Given the description of an element on the screen output the (x, y) to click on. 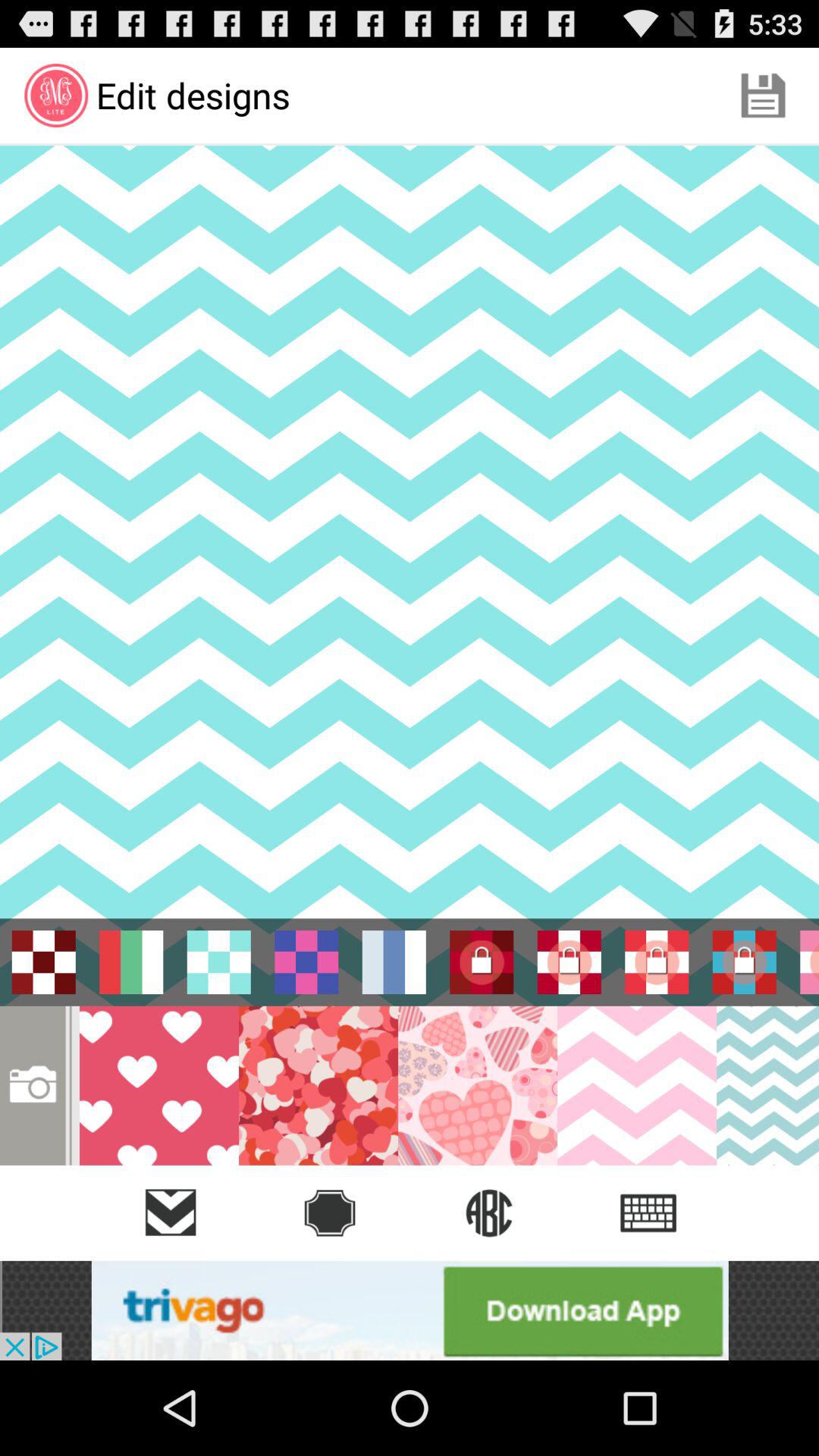
go to advertisement page (409, 1310)
